Given the description of an element on the screen output the (x, y) to click on. 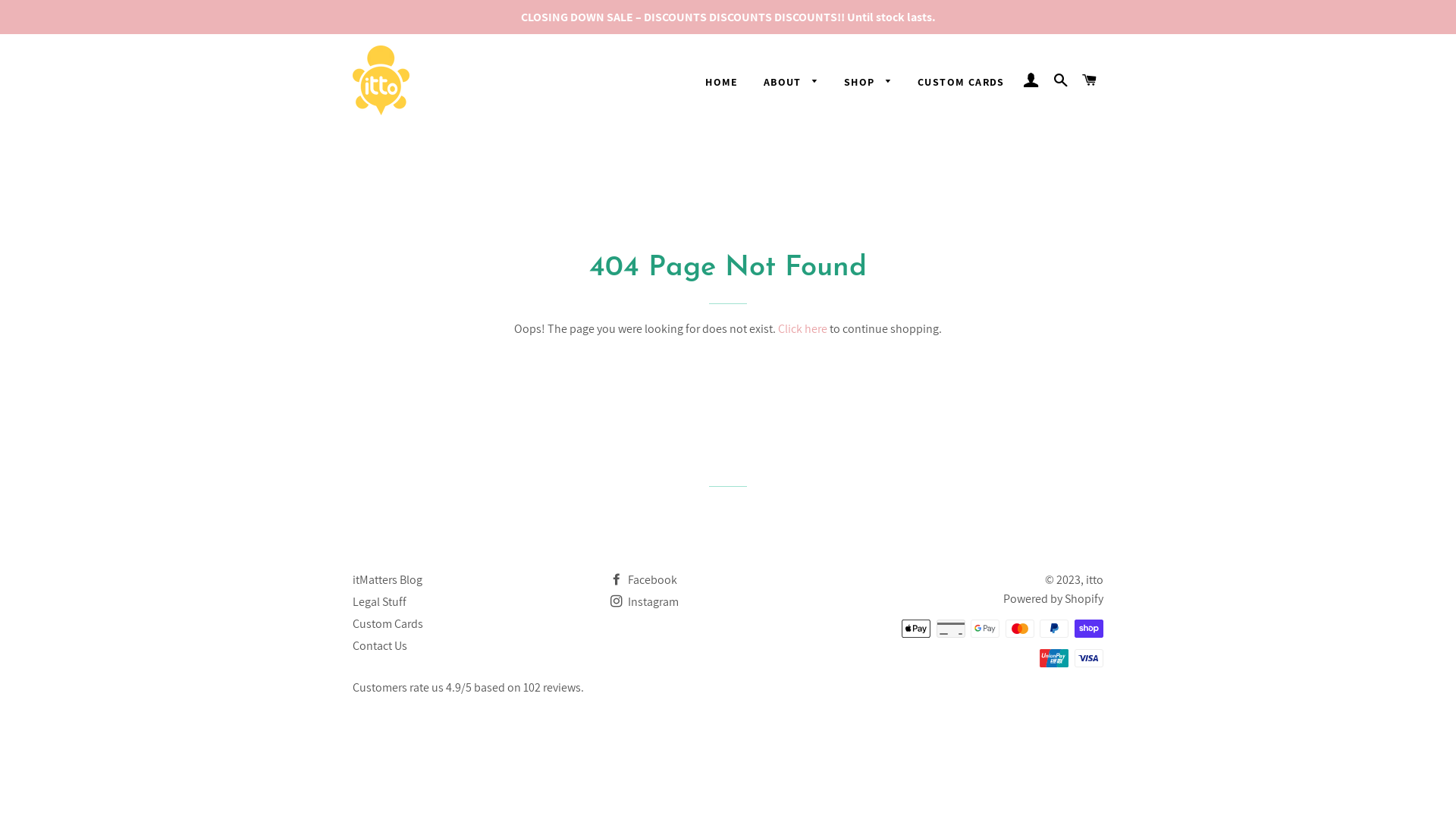
ABOUT Element type: text (791, 82)
Contact Us Element type: text (379, 645)
CUSTOM CARDS Element type: text (961, 82)
Custom Cards Element type: text (387, 623)
HOME Element type: text (721, 82)
CART Element type: text (1089, 80)
LOG IN Element type: text (1031, 80)
Facebook Element type: text (643, 579)
Legal Stuff Element type: text (379, 601)
SHOP Element type: text (867, 82)
Customers rate us 4.9/5 based on 102 reviews. Element type: text (467, 687)
Powered by Shopify Element type: text (1053, 598)
itMatters Blog Element type: text (387, 579)
itto Element type: text (1094, 579)
Click here Element type: text (802, 328)
Instagram Element type: text (644, 601)
SEARCH Element type: text (1060, 80)
